Given the description of an element on the screen output the (x, y) to click on. 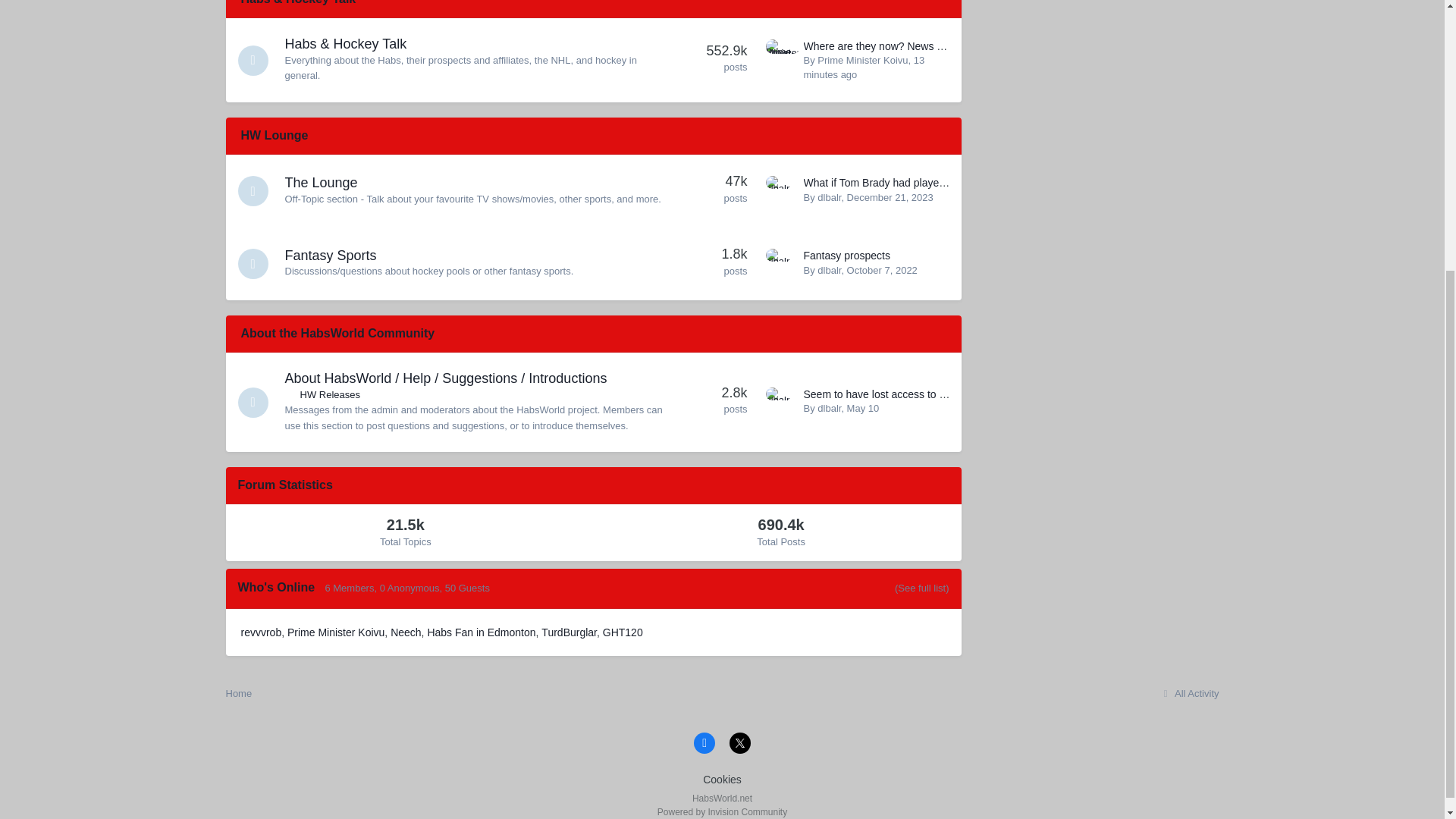
Go to dlbalr's profile (828, 197)
Go to dlbalr's profile (780, 263)
Go to Prime Minister Koivu's profile (861, 60)
Go to Prime Minister Koivu's profile (780, 54)
Where are they now? News on past Habs prospects and players (954, 46)
Prime Minister Koivu (861, 60)
Where are they now? News on past Habs prospects and players (954, 46)
Go to last post (890, 197)
Fantasy prospects (846, 255)
13 minutes ago (863, 66)
